Given the description of an element on the screen output the (x, y) to click on. 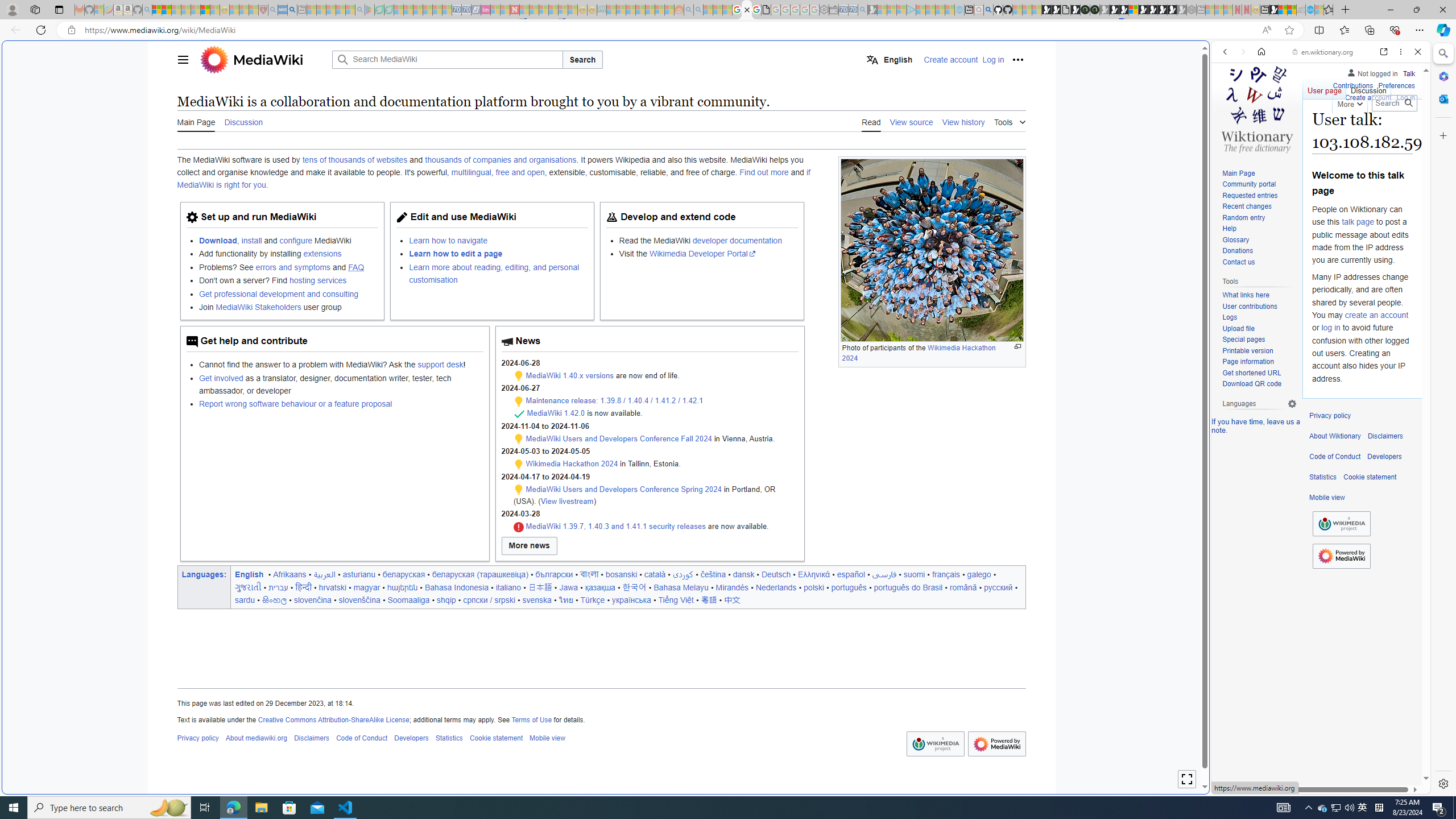
Privacy policy (1329, 415)
MediaWiki (746, 9)
View history (963, 120)
developer documentation (736, 239)
asturianu (358, 574)
